Given the description of an element on the screen output the (x, y) to click on. 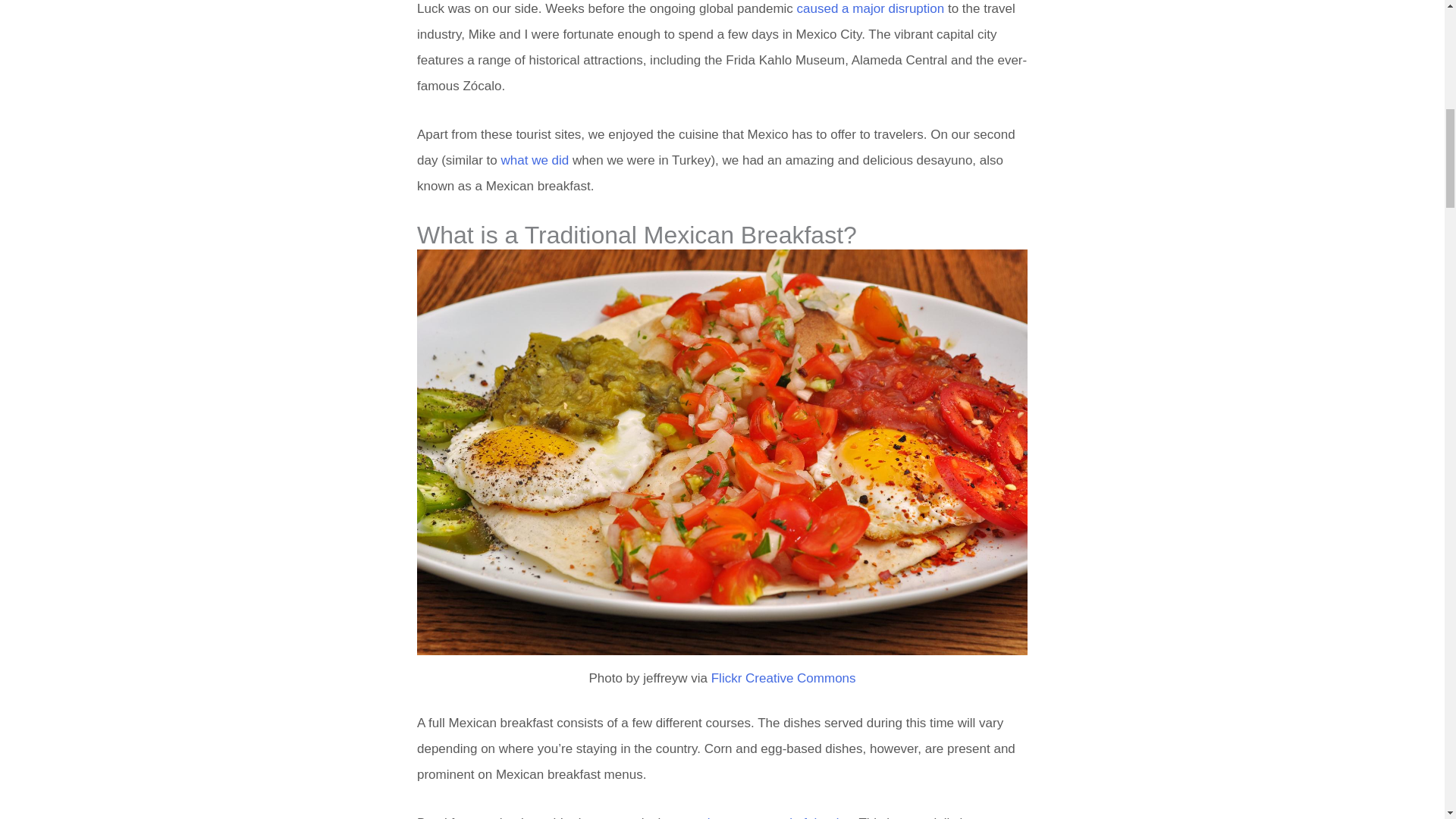
most important meal of the day (763, 817)
what we did (534, 160)
Flickr Creative Commons (783, 677)
caused a major disruption (870, 8)
